Given the description of an element on the screen output the (x, y) to click on. 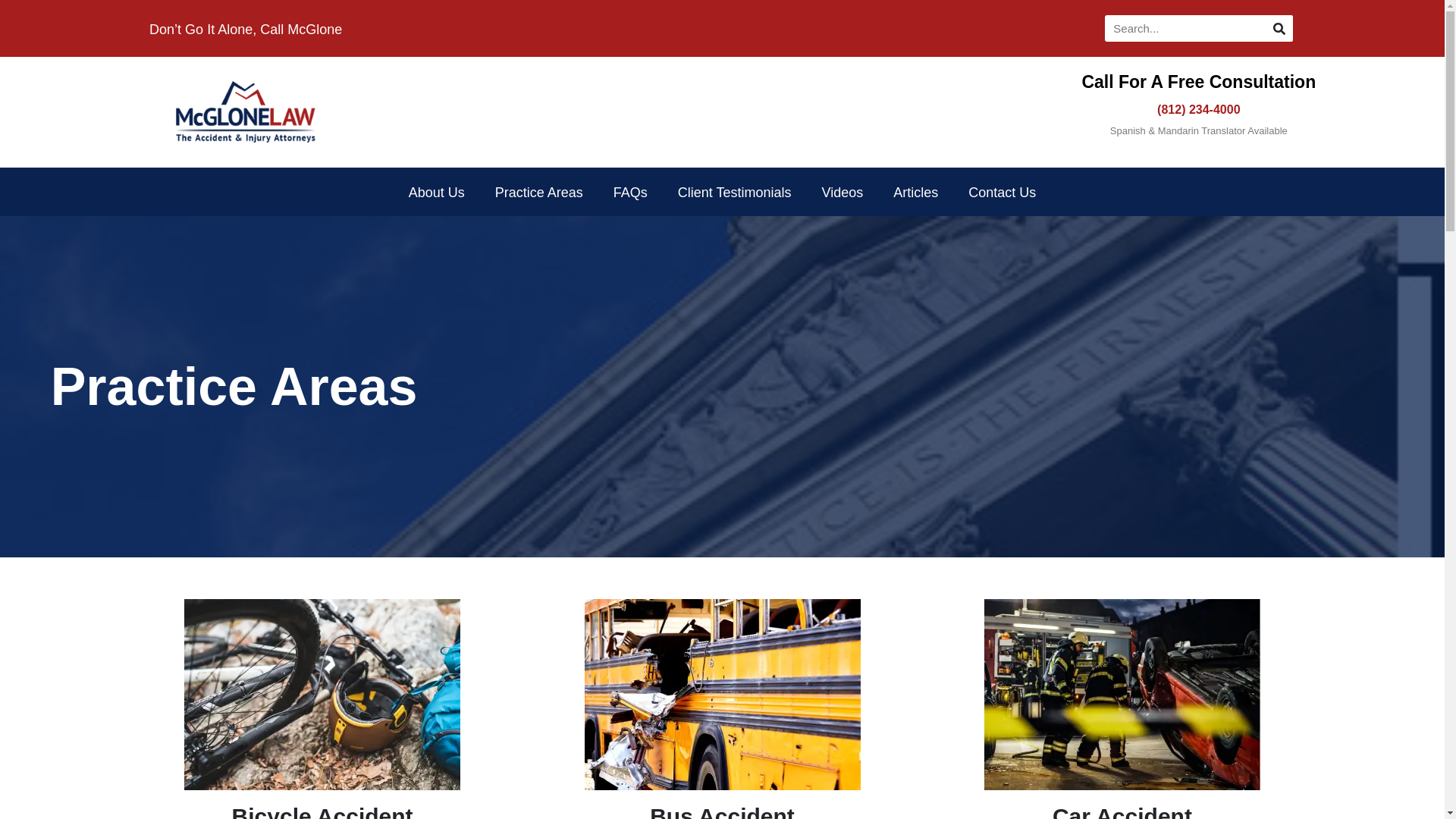
Practice Areas (539, 192)
Articles (915, 192)
Videos (842, 192)
FAQs (630, 192)
About Us (436, 192)
Contact Us (1002, 192)
Client Testimonials (734, 192)
